Given the description of an element on the screen output the (x, y) to click on. 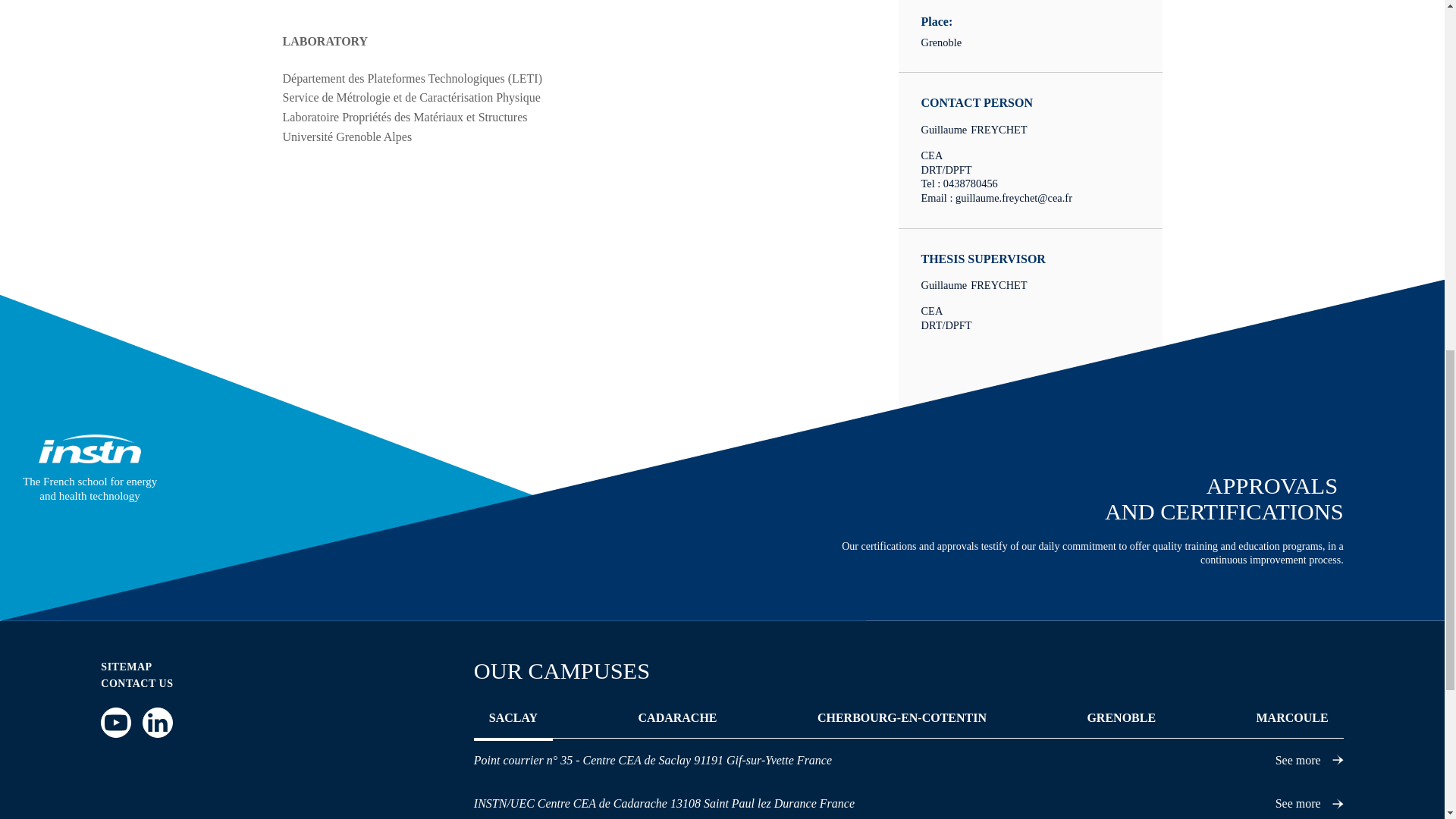
SITEMAP (125, 667)
